Given the description of an element on the screen output the (x, y) to click on. 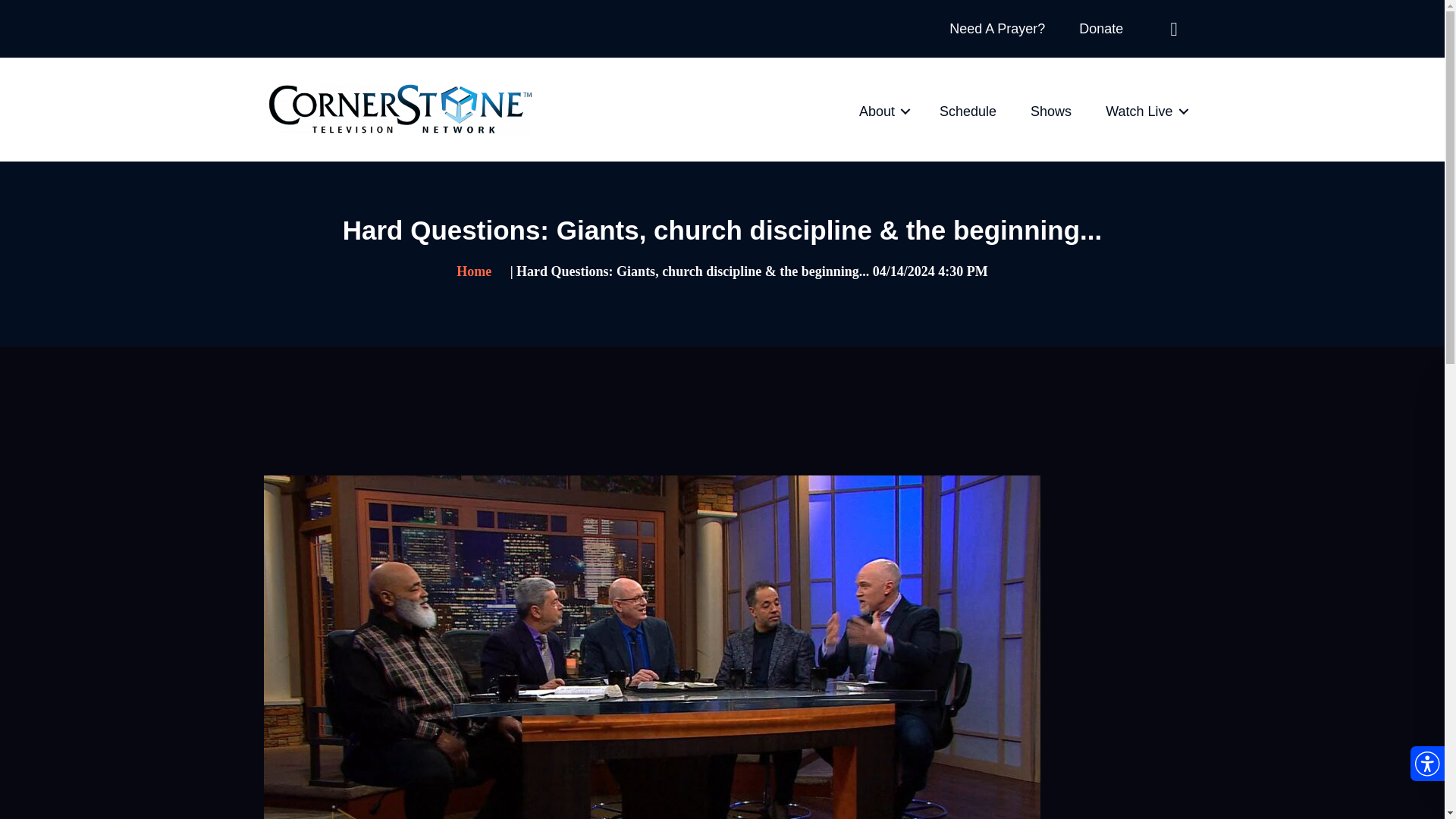
Watch Live (1143, 111)
Shows (1050, 111)
Home (481, 271)
Need A Prayer? (997, 28)
Donate (1101, 28)
cornerstone-network-3d-logo-white-1-e1656090230659.png (399, 110)
About (881, 111)
Schedule (967, 111)
